Given the description of an element on the screen output the (x, y) to click on. 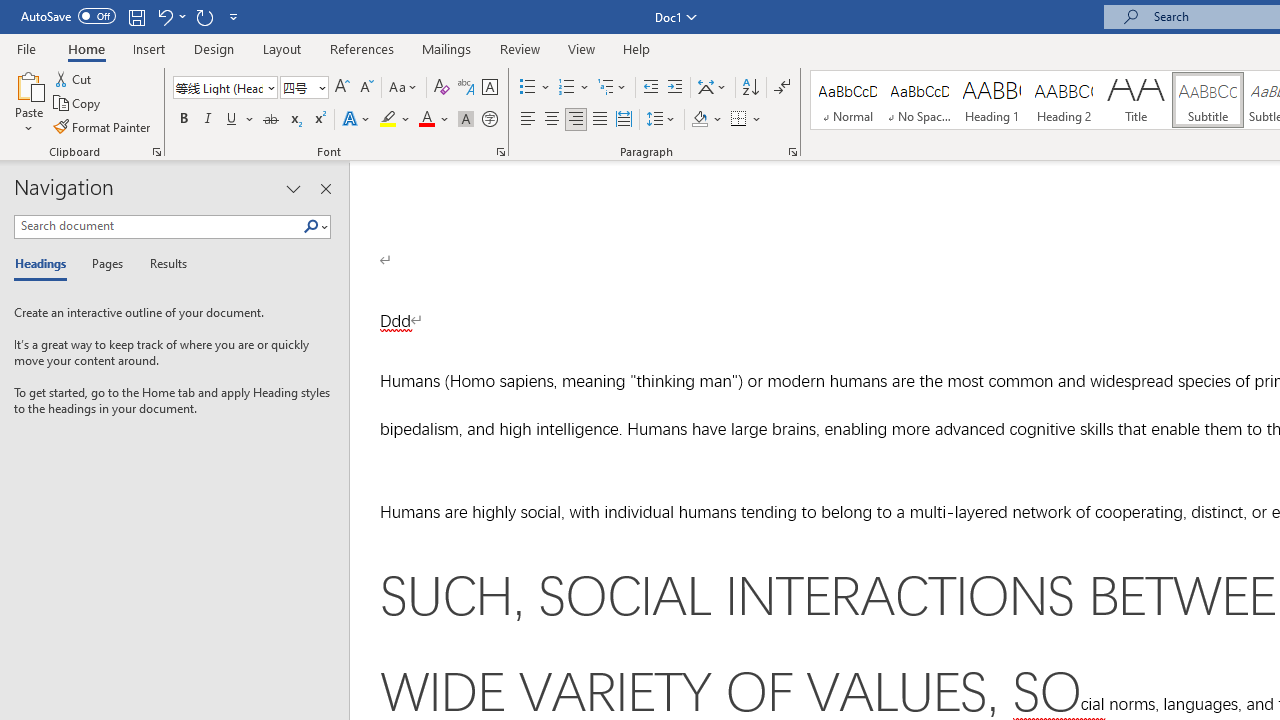
Open (320, 87)
Align Right (575, 119)
Review (520, 48)
Heading 2 (1063, 100)
Font Color (434, 119)
Search document (157, 226)
Design (214, 48)
Italic (207, 119)
Sort... (750, 87)
References (362, 48)
